Given the description of an element on the screen output the (x, y) to click on. 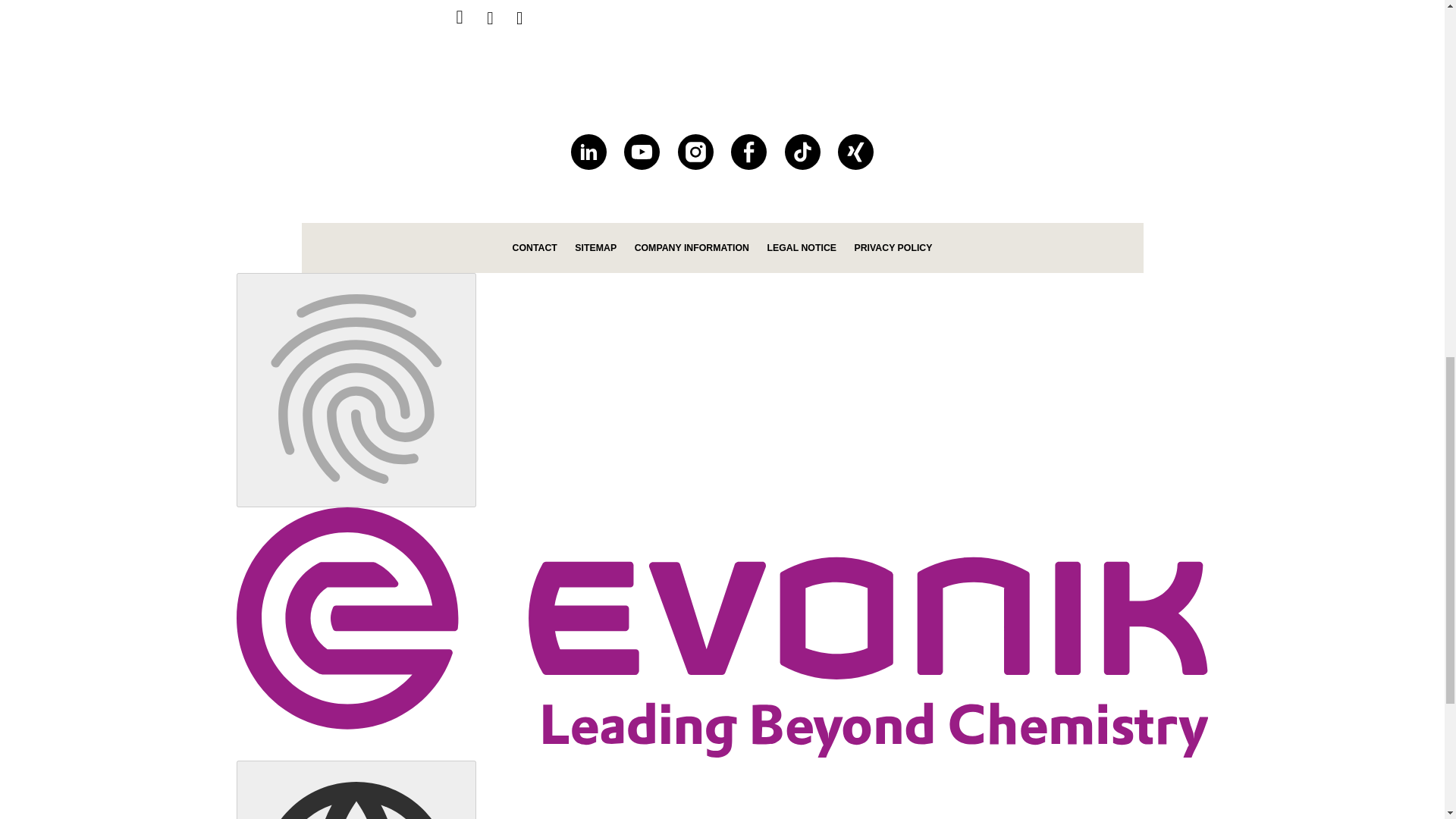
COMPANY INFORMATION (691, 247)
PRIVACY POLICY (892, 247)
SITEMAP (595, 247)
CONTACT (534, 247)
LEGAL NOTICE (801, 247)
